Given the description of an element on the screen output the (x, y) to click on. 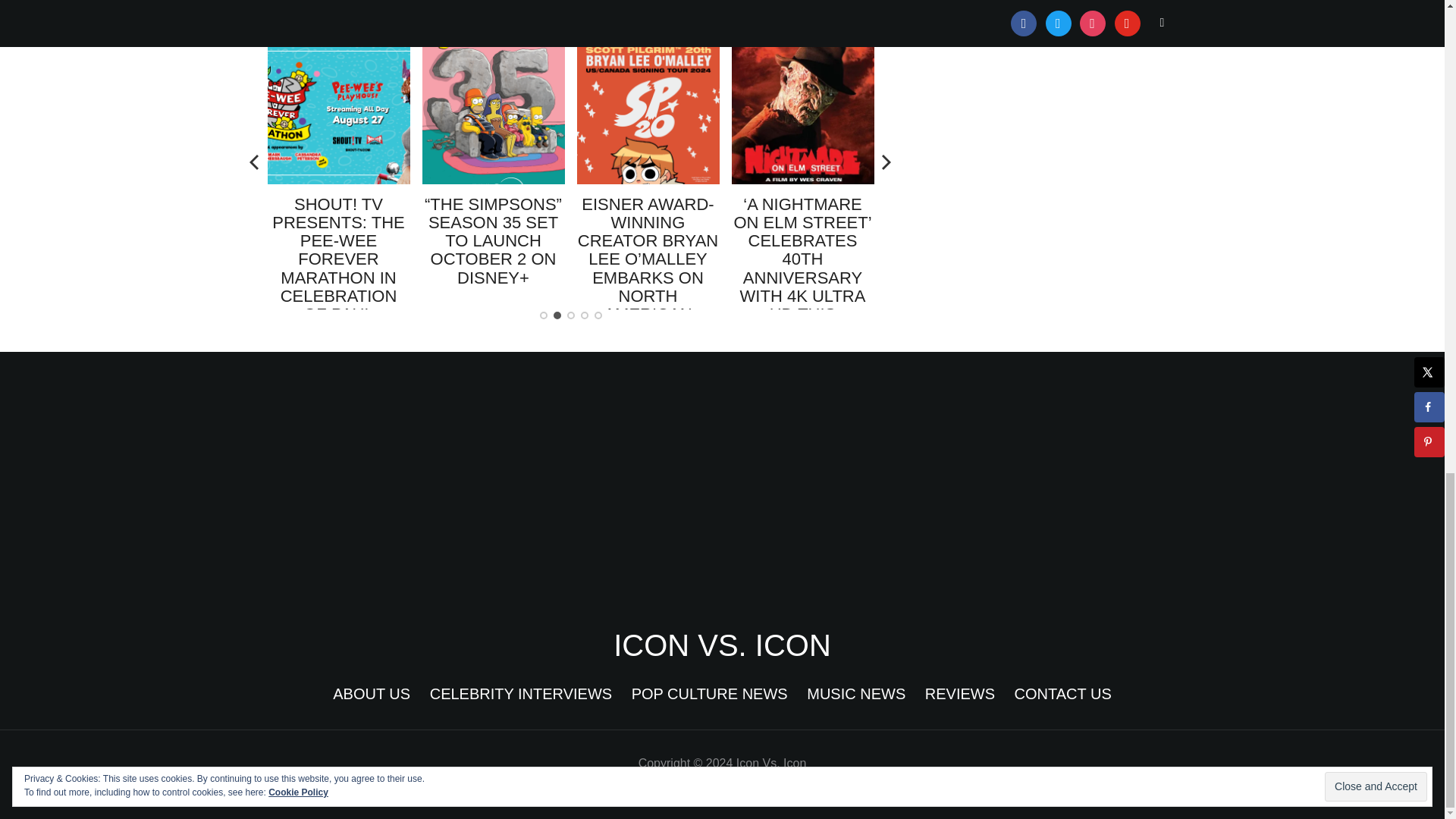
Facebook (285, 2)
Youtube (330, 2)
Twitter (307, 2)
